Given the description of an element on the screen output the (x, y) to click on. 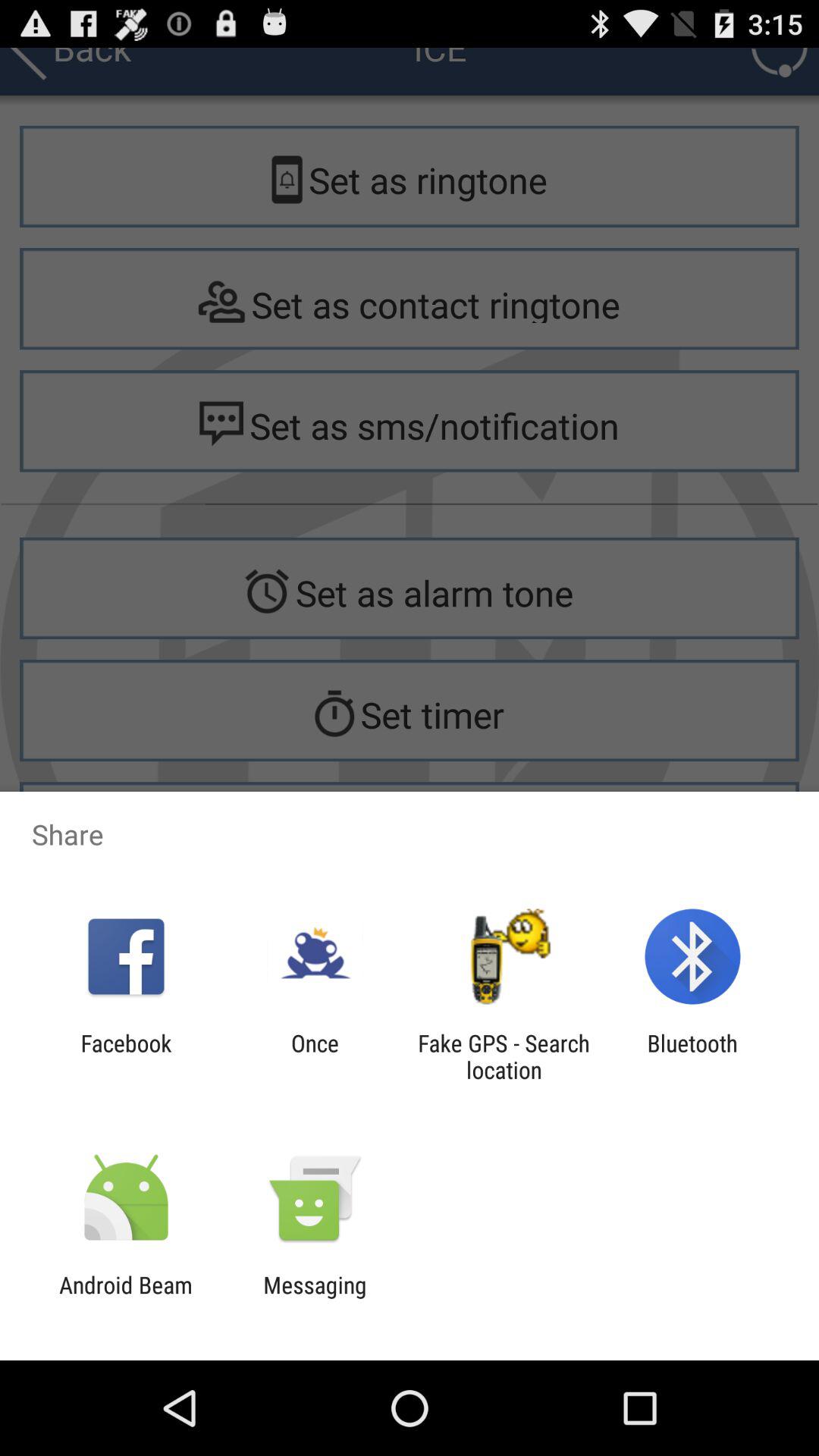
swipe until the fake gps search icon (503, 1056)
